Given the description of an element on the screen output the (x, y) to click on. 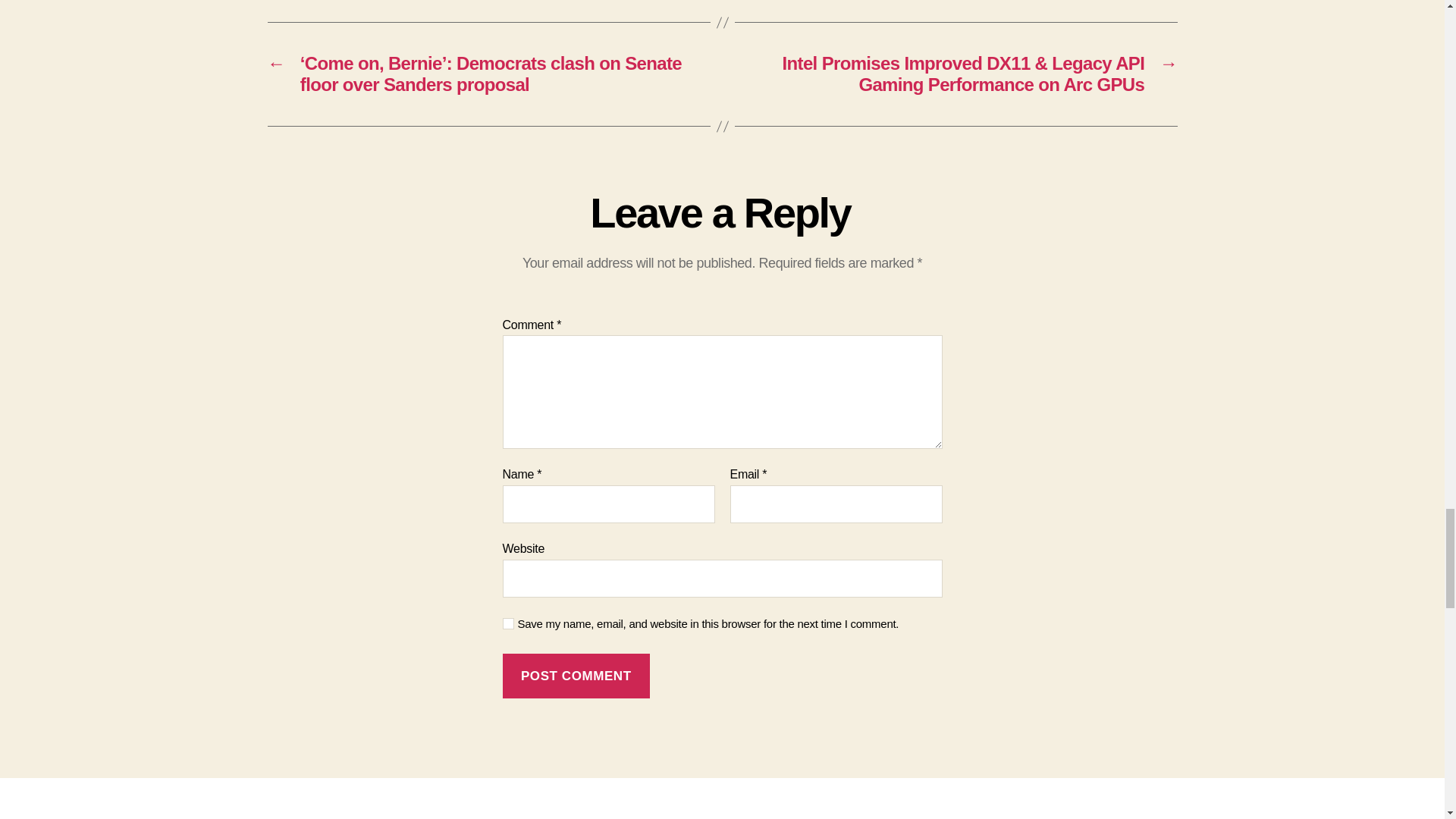
Post Comment (575, 675)
yes (507, 623)
Post Comment (575, 675)
